Given the description of an element on the screen output the (x, y) to click on. 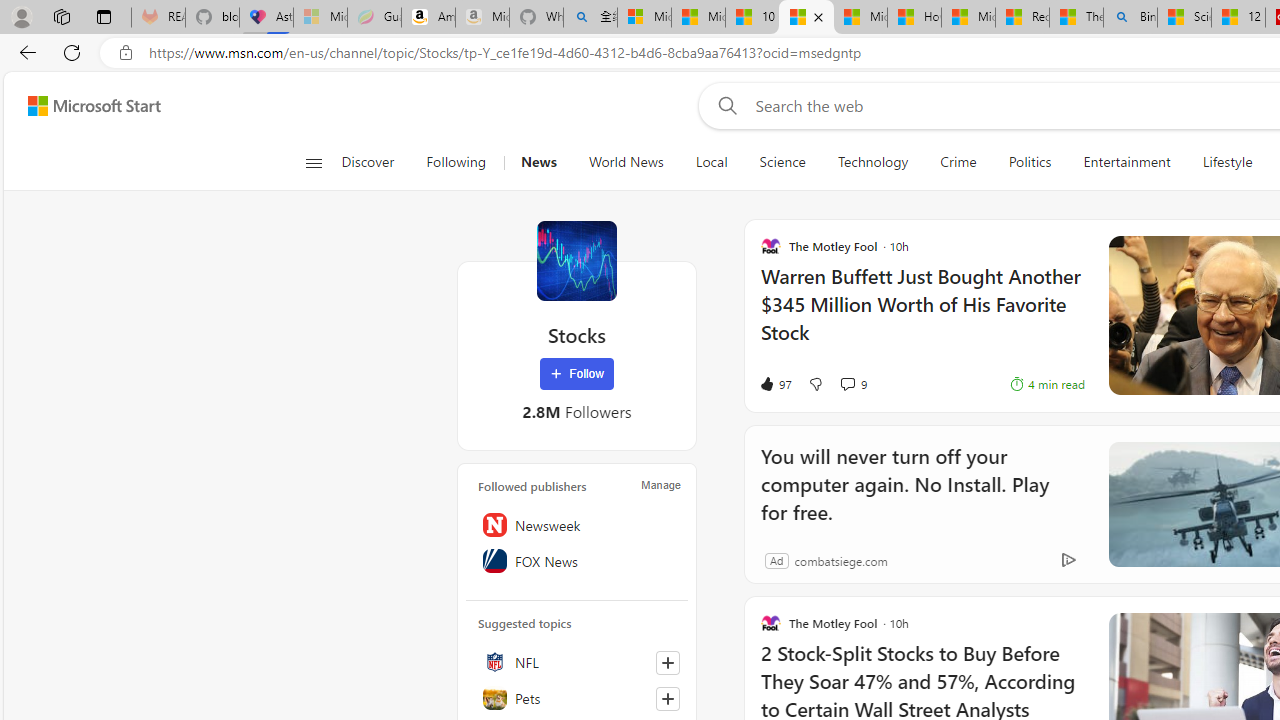
How I Got Rid of Microsoft Edge's Unnecessary Features (914, 17)
Crime (958, 162)
Manage (660, 484)
FOX News (577, 561)
Science (782, 162)
Local (711, 162)
Lifestyle (1227, 162)
Science (781, 162)
